Given the description of an element on the screen output the (x, y) to click on. 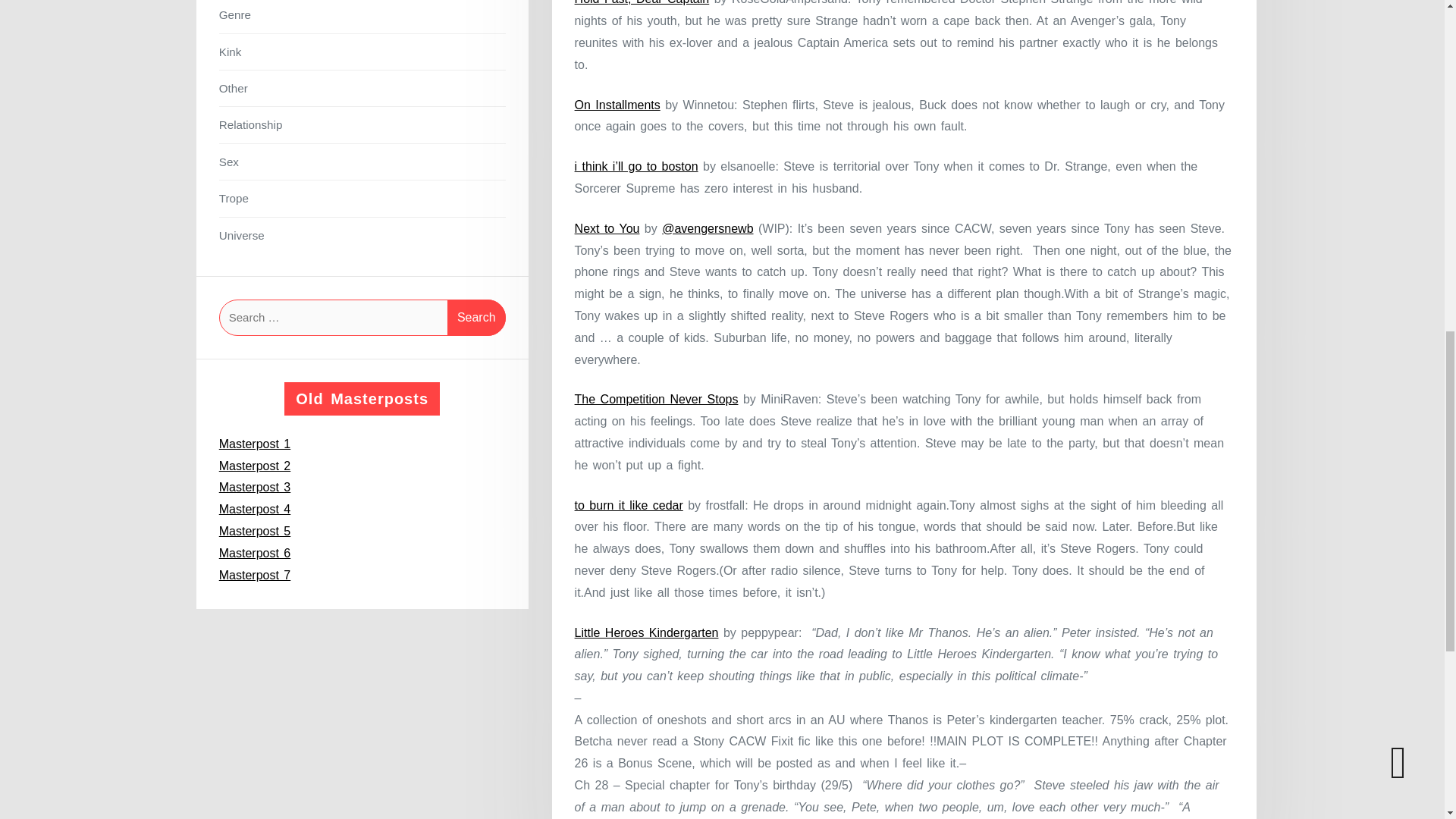
Hold Fast, Dear Captain (642, 2)
Relationship (362, 124)
Masterpost 2 (254, 465)
Search (475, 317)
Next to You (607, 228)
to burn it like cedar (628, 504)
Masterpost 7 (254, 574)
Other (362, 87)
Masterpost 3 (254, 486)
Search (475, 317)
